Given the description of an element on the screen output the (x, y) to click on. 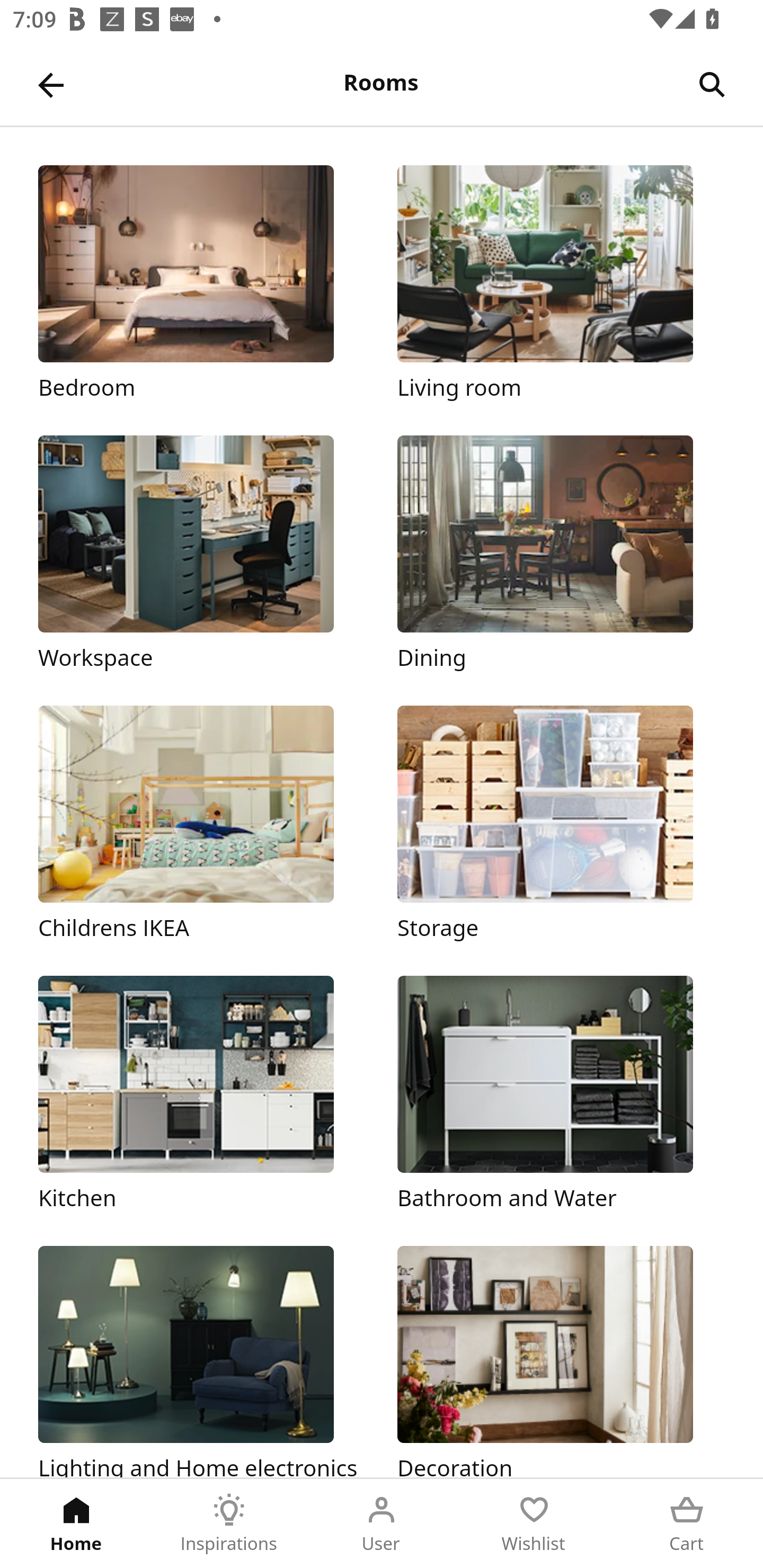
Bedroom (201, 283)
Living room (560, 283)
Workspace (201, 554)
Dining (560, 554)
Childrens IKEA (201, 824)
Storage (560, 824)
Kitchen (201, 1094)
Bathroom and Water (560, 1094)
Lighting and Home electronics (201, 1361)
Decoration (560, 1361)
Home
Tab 1 of 5 (76, 1522)
Inspirations
Tab 2 of 5 (228, 1522)
User
Tab 3 of 5 (381, 1522)
Wishlist
Tab 4 of 5 (533, 1522)
Cart
Tab 5 of 5 (686, 1522)
